Given the description of an element on the screen output the (x, y) to click on. 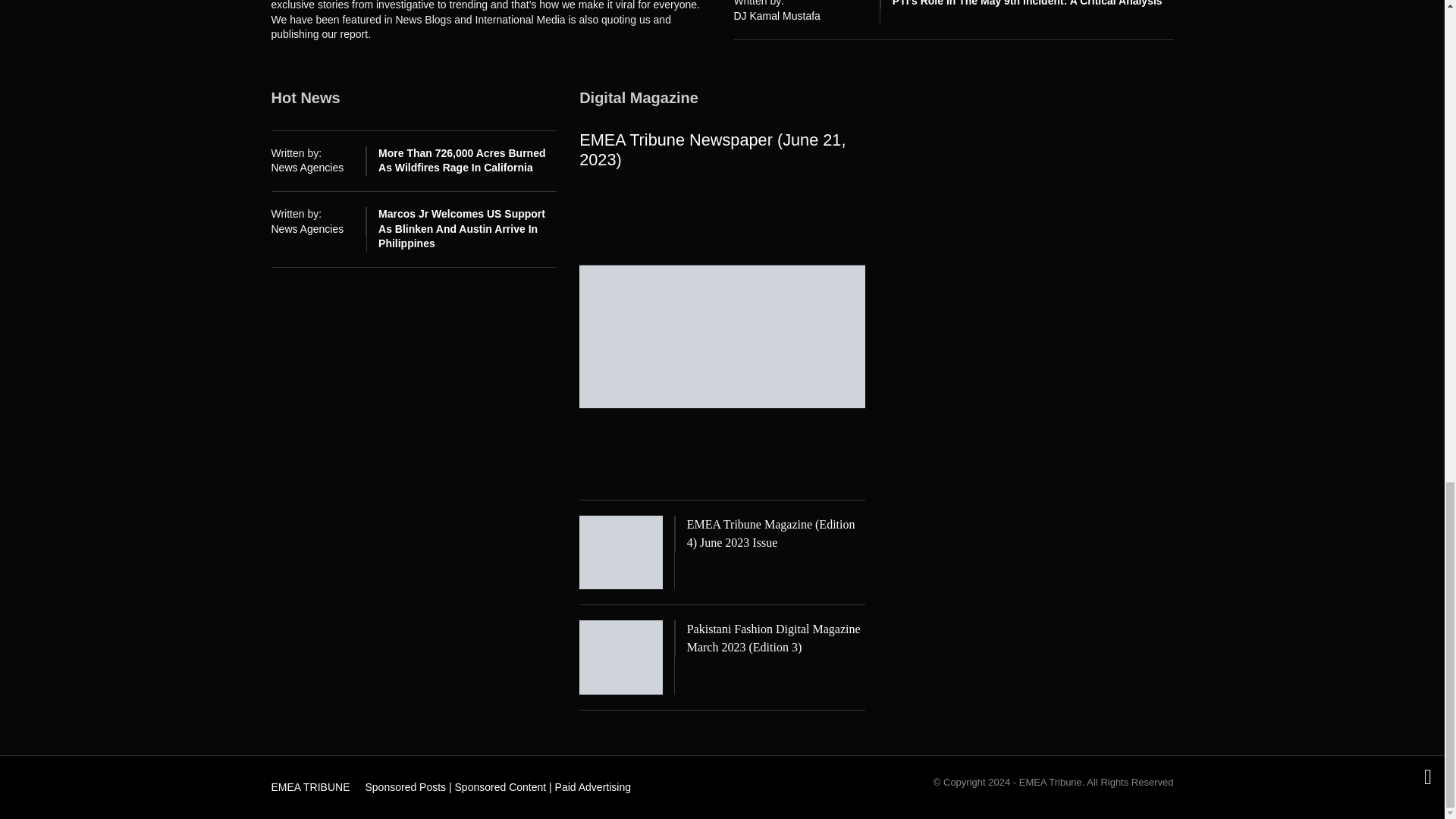
Skip to content (303, 782)
